Given the description of an element on the screen output the (x, y) to click on. 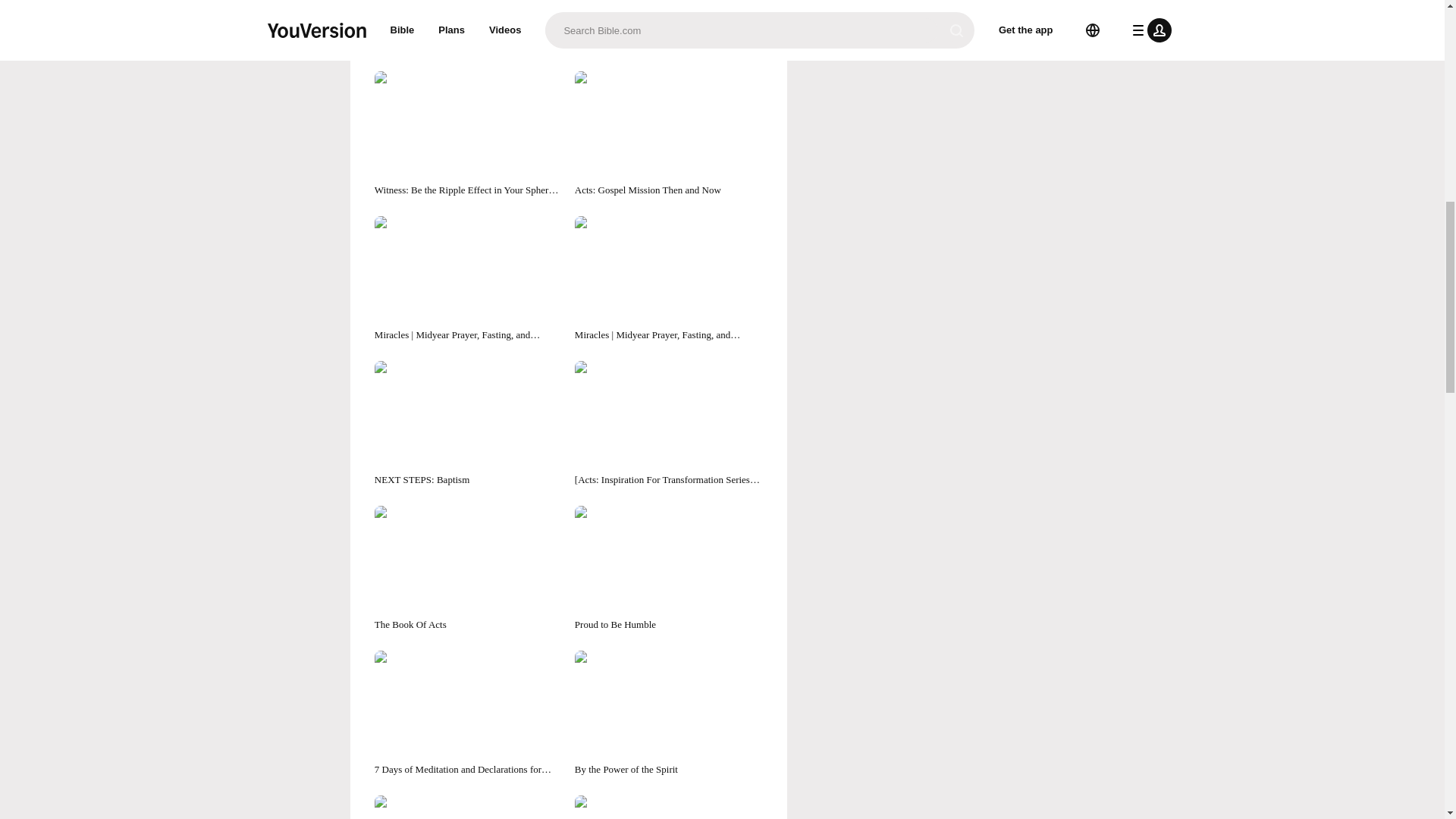
Miracle Invasion: The Holy Spirit's Gifts At Work Today (468, 807)
7 Days of Meditation and Declarations for Every Son of God (468, 713)
Acts: Gospel Mission Then and Now (668, 134)
God Speaking: Rise Up! (668, 807)
NEXT STEPS: Baptism (468, 424)
By the Power of the Spirit (668, 713)
Proud to Be Humble (668, 569)
The Book Of Acts (468, 569)
Witness: Be the Ripple Effect in Your Sphere of Influence (468, 134)
